Given the description of an element on the screen output the (x, y) to click on. 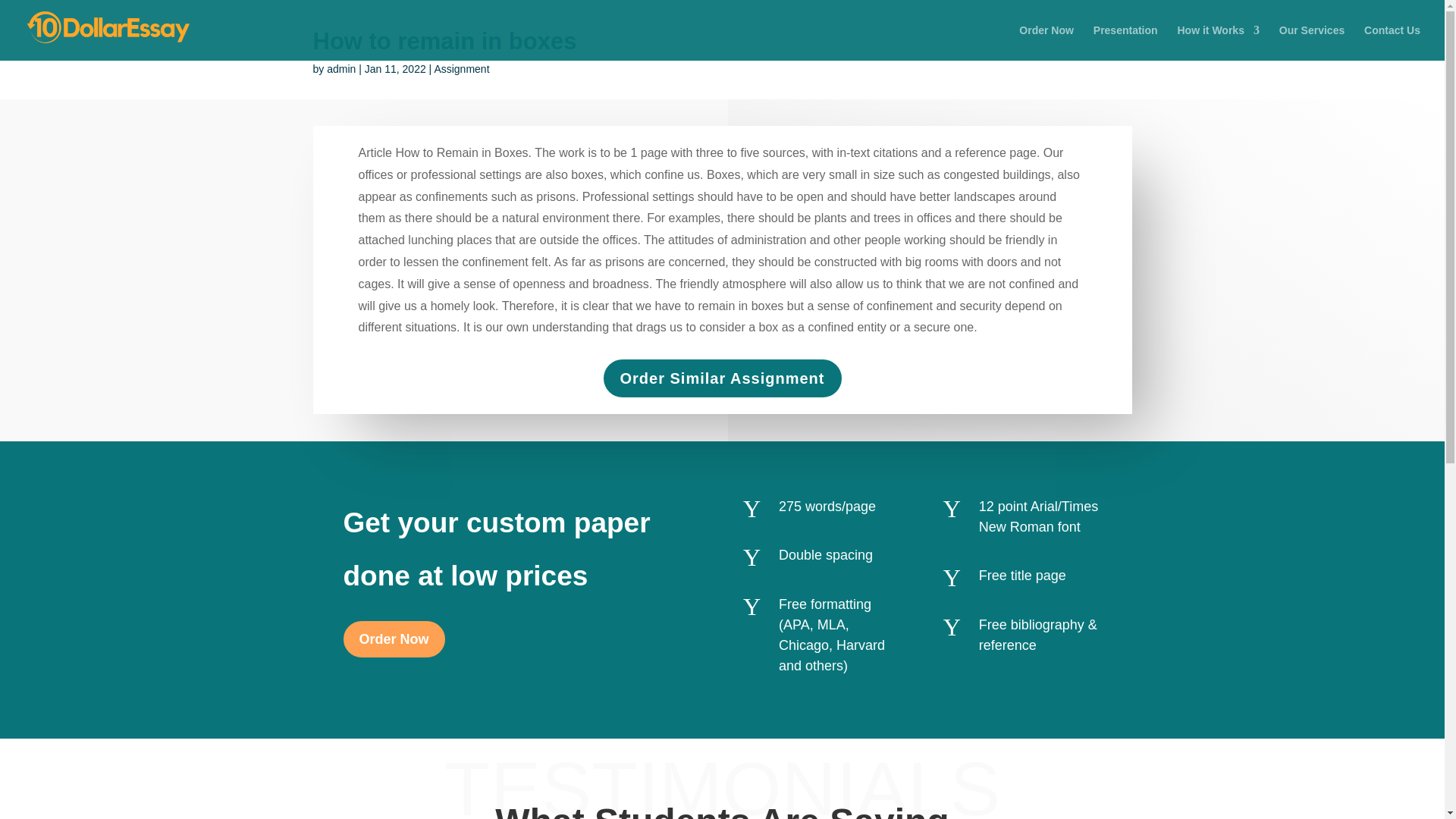
Order Similar Assignment (722, 378)
admin (340, 69)
How it Works (1217, 42)
Order Now (393, 638)
Posts by admin (340, 69)
Presentation (1125, 42)
Contact Us (1392, 42)
Assignment (461, 69)
Our Services (1311, 42)
Order Now (1046, 42)
